Given the description of an element on the screen output the (x, y) to click on. 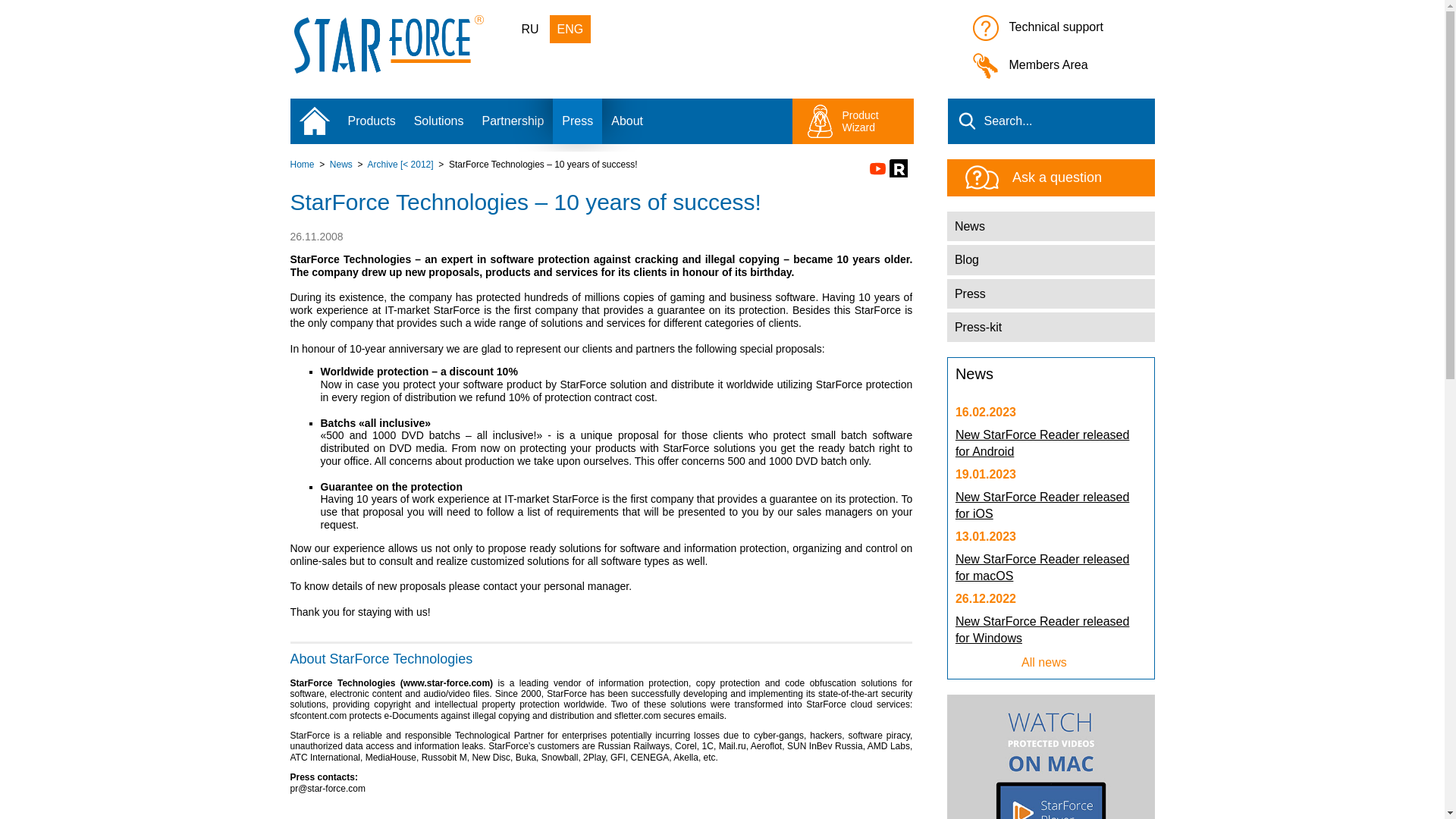
Ask a question (1090, 177)
New StarForce Reader released for Windows (1042, 629)
Technical support (1063, 30)
News (341, 163)
New StarForce Reader released for macOS (1042, 567)
New StarForce Reader released for Android (1042, 442)
Search... (1050, 121)
Partnership (512, 121)
New StarForce Reader released for iOS (1042, 505)
ENG (569, 29)
Solutions (438, 121)
Products (370, 121)
Go to YouTube (876, 167)
StarForce Technologies (388, 69)
Go to RuTube (898, 167)
